Given the description of an element on the screen output the (x, y) to click on. 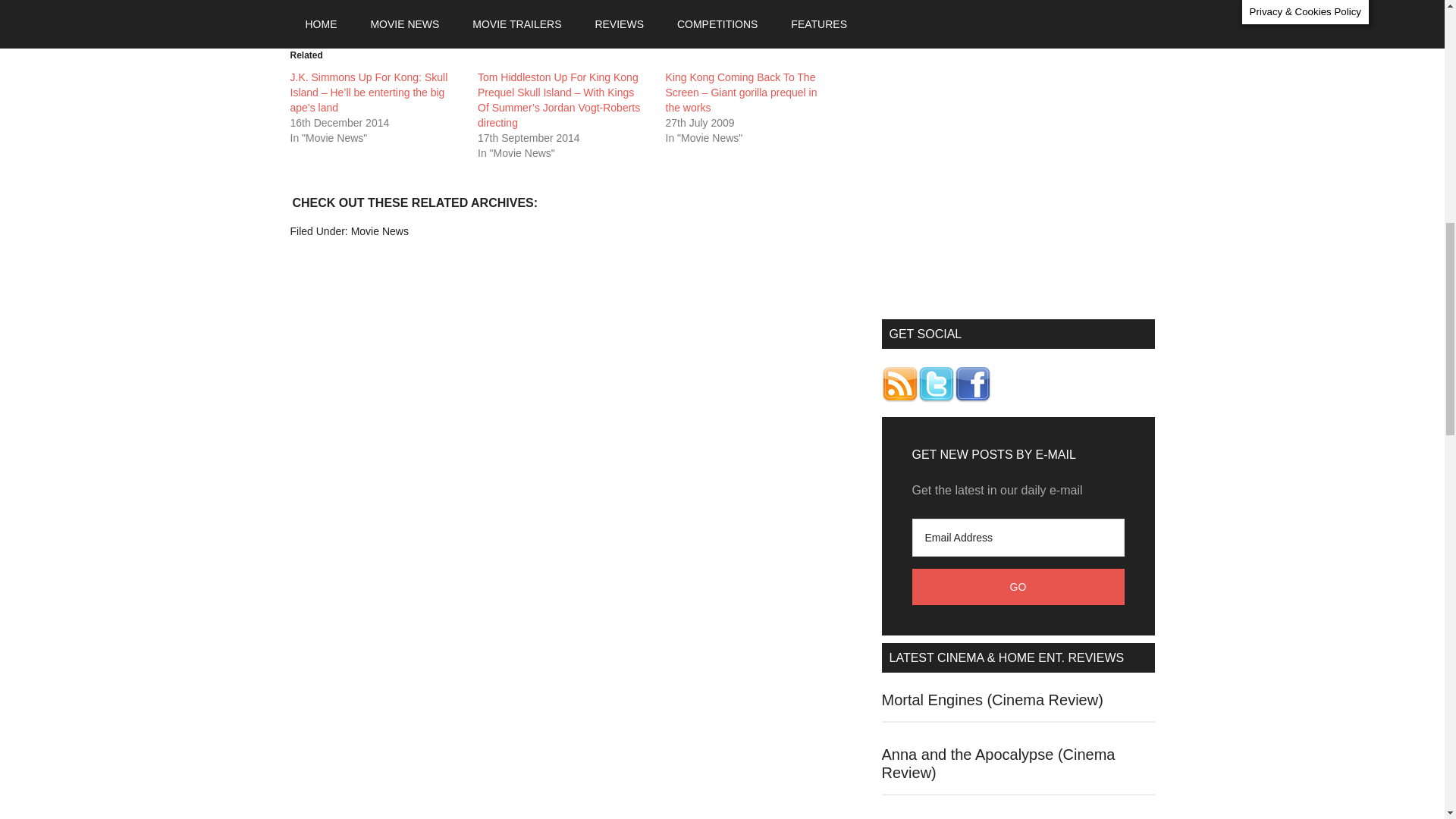
Movie News (379, 231)
Go (1017, 586)
Go (1017, 586)
